Given the description of an element on the screen output the (x, y) to click on. 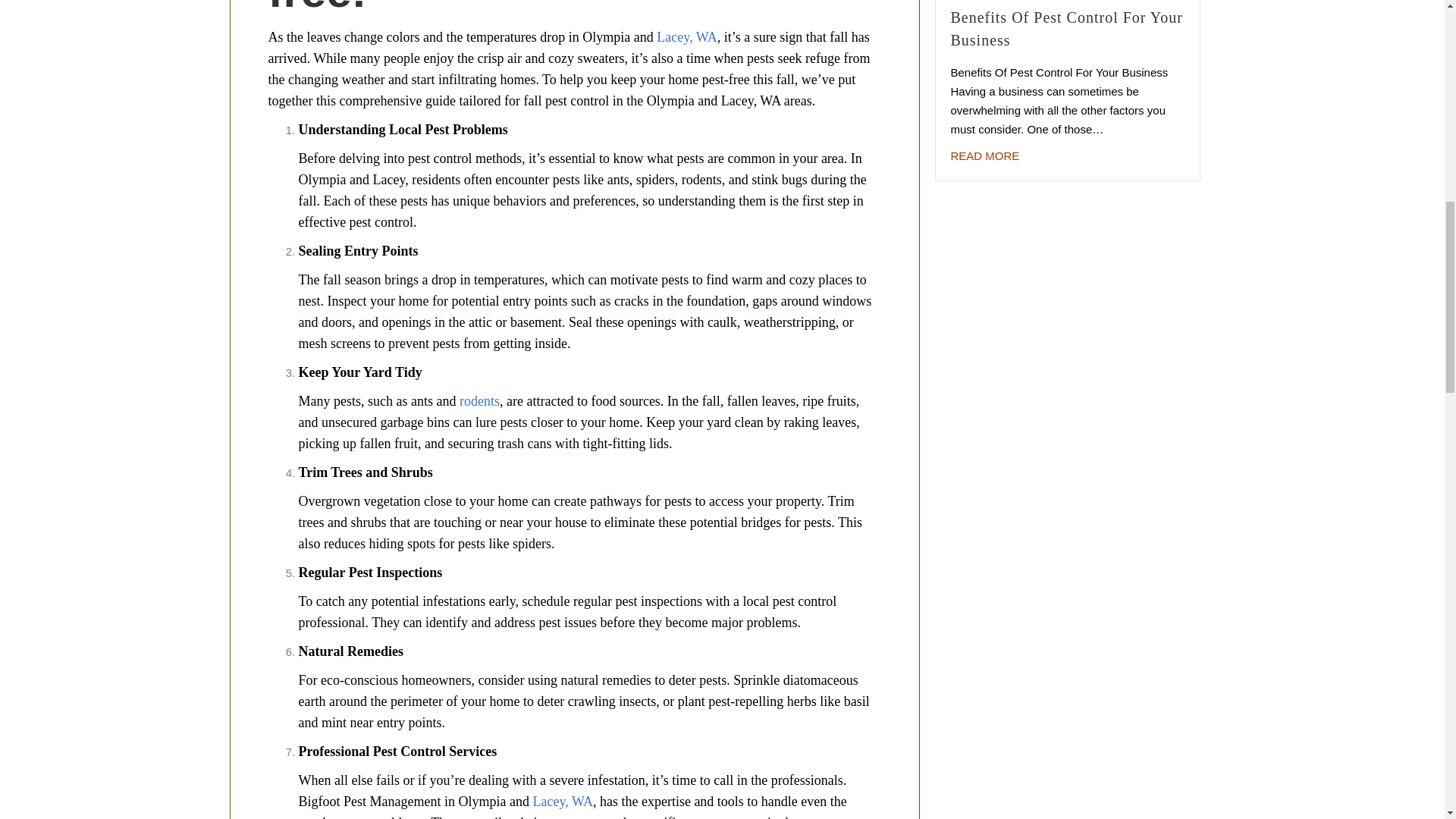
rodents (479, 400)
Lacey, WA (686, 37)
Benefits Of Pest Control For Your Business (1066, 28)
Benefits Of Pest Control For Your Business (985, 155)
Lacey, WA (562, 801)
